Given the description of an element on the screen output the (x, y) to click on. 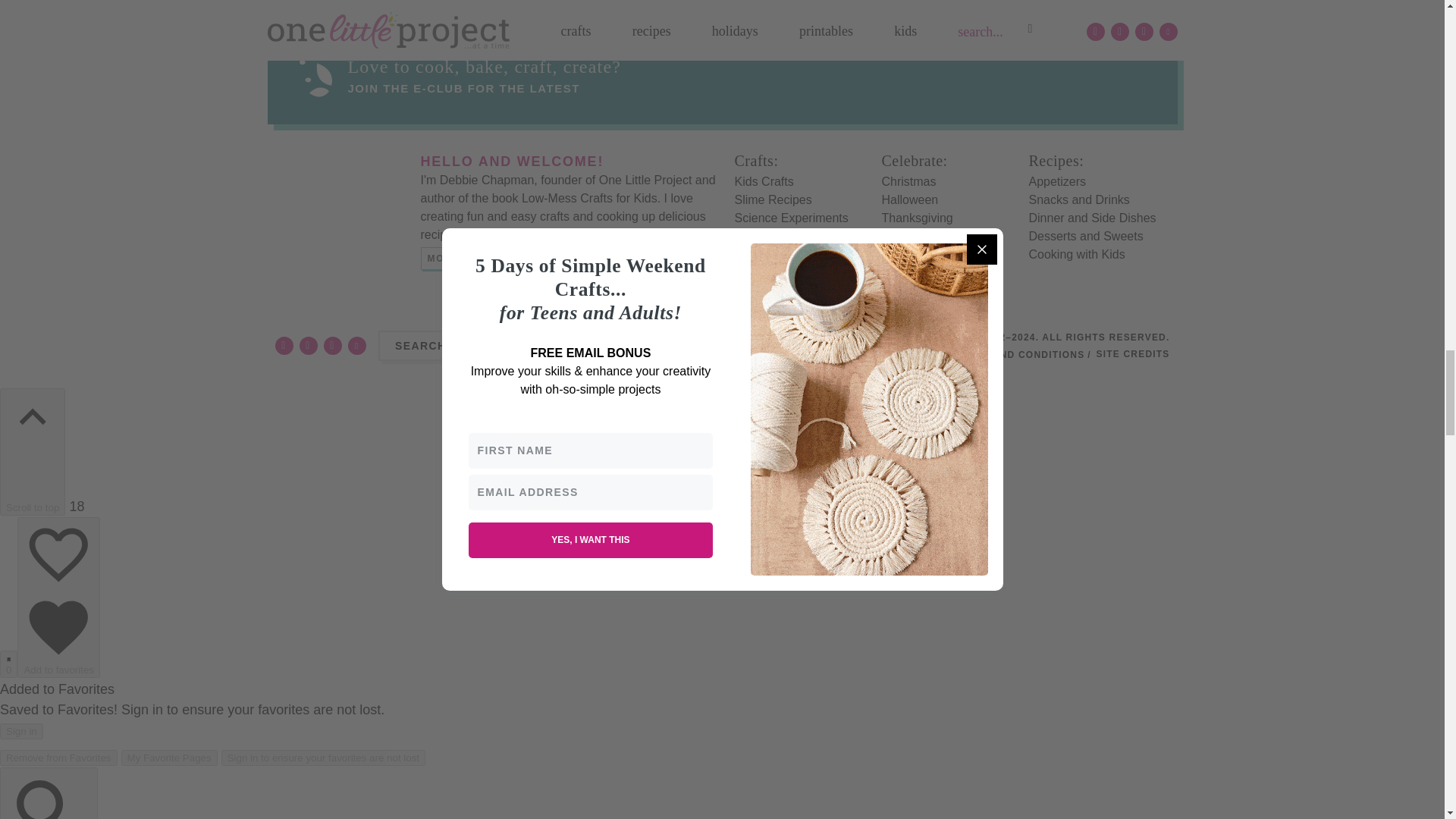
Search (484, 345)
Search (484, 345)
